Given the description of an element on the screen output the (x, y) to click on. 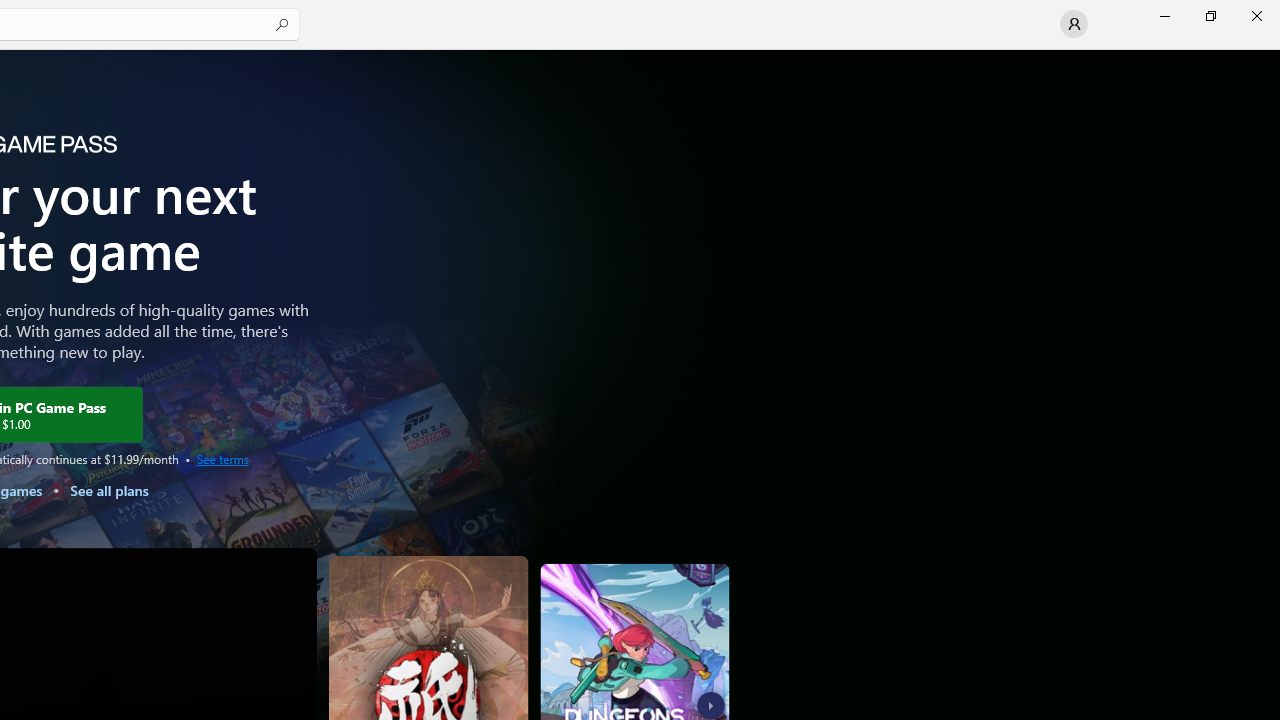
Close Microsoft Store (1256, 15)
See all plans (108, 490)
See terms (221, 457)
User profile (1073, 24)
Minimize Microsoft Store (1164, 15)
Restore Microsoft Store (1210, 15)
